Given the description of an element on the screen output the (x, y) to click on. 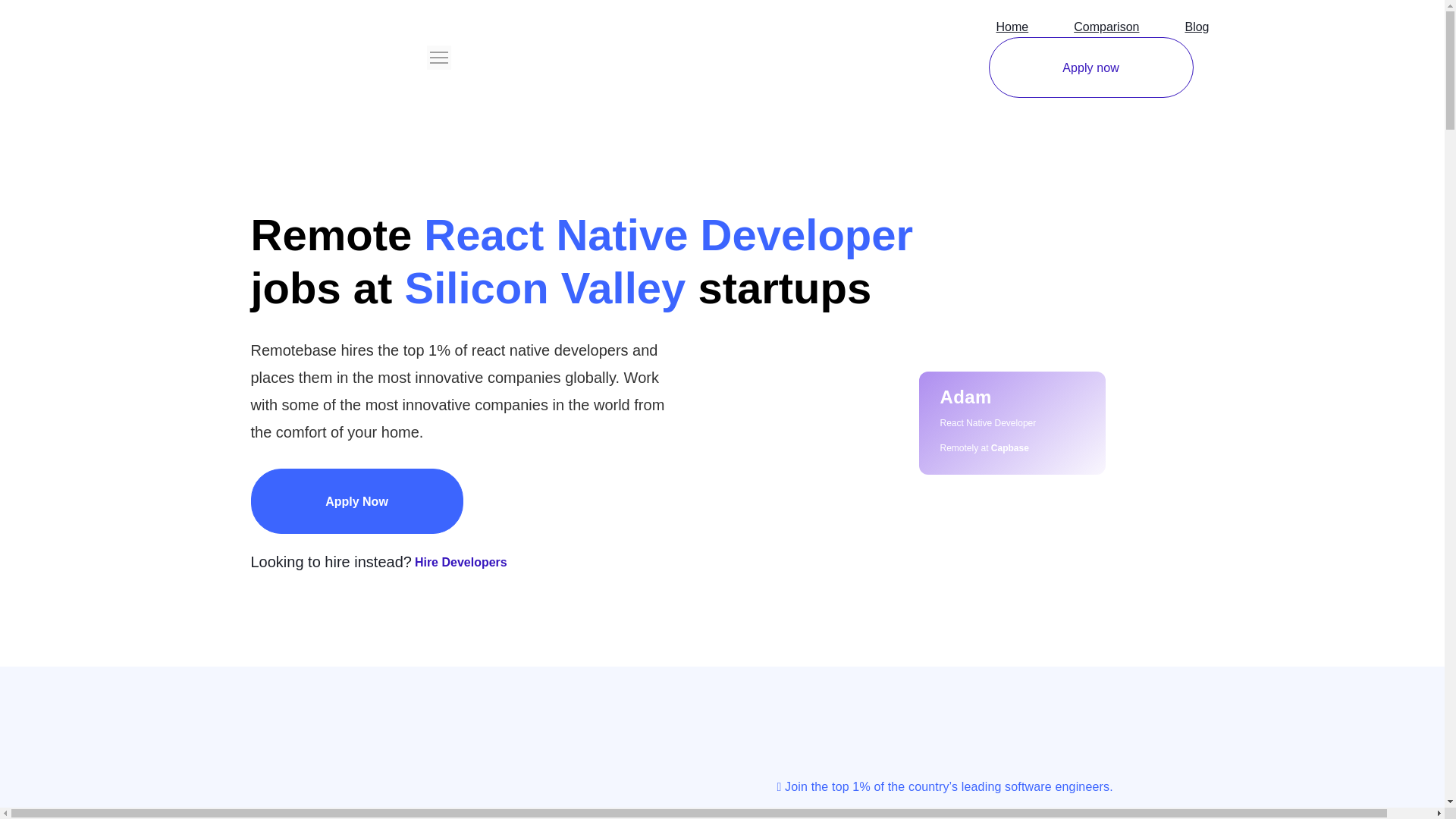
Hire Developers (460, 561)
Comparison (1106, 26)
Apply Now (356, 500)
Home (1012, 26)
Apply now (1090, 66)
Blog (1196, 26)
